Given the description of an element on the screen output the (x, y) to click on. 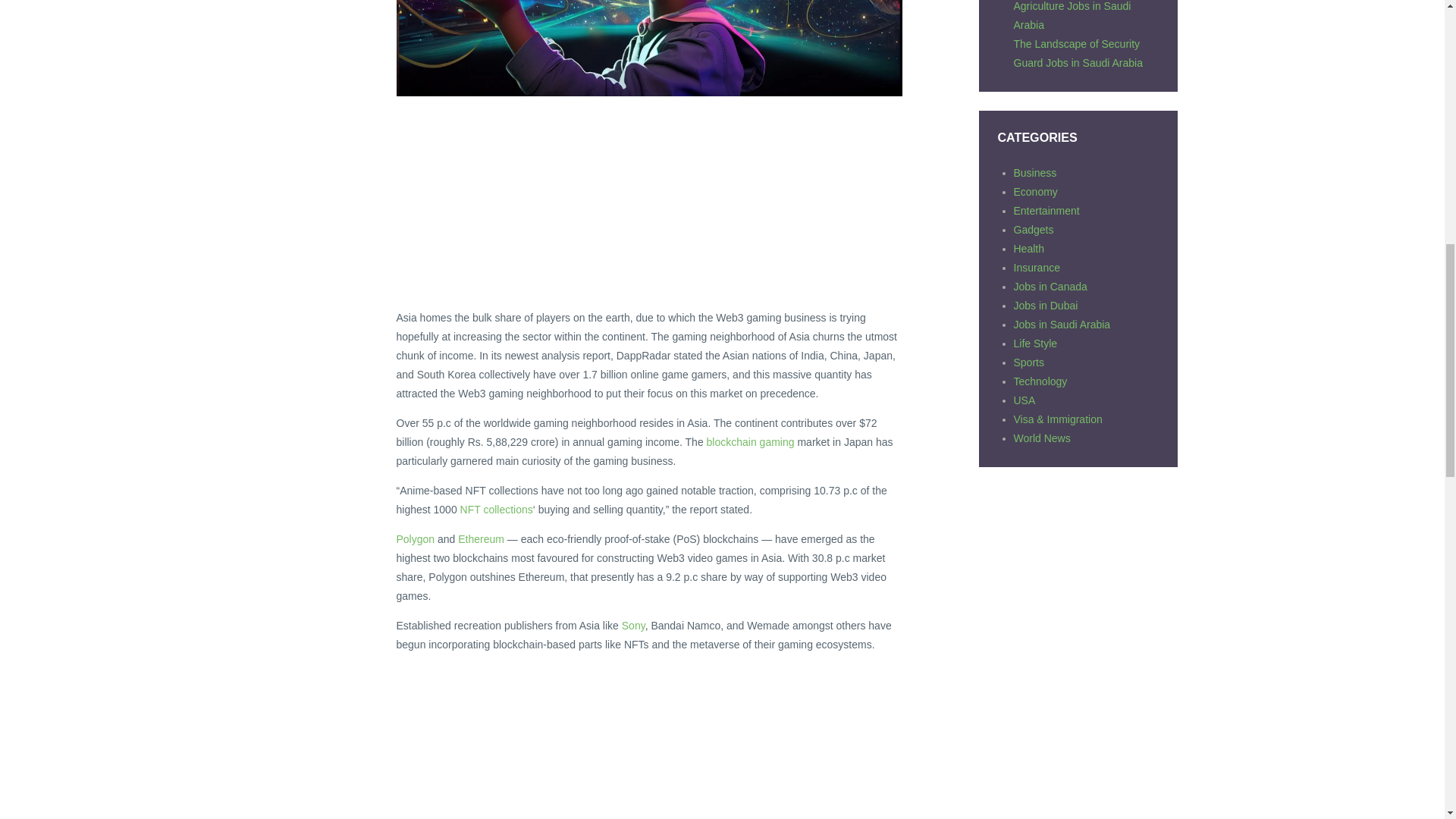
The Landscape of Security Guard Jobs in Saudi Arabia (1077, 52)
Polygon (414, 539)
Sony (633, 625)
blockchain gaming (750, 441)
The Evolution and Future of Agriculture Jobs in Saudi Arabia (1078, 15)
NFT collections (496, 509)
Ethereum (480, 539)
